Given the description of an element on the screen output the (x, y) to click on. 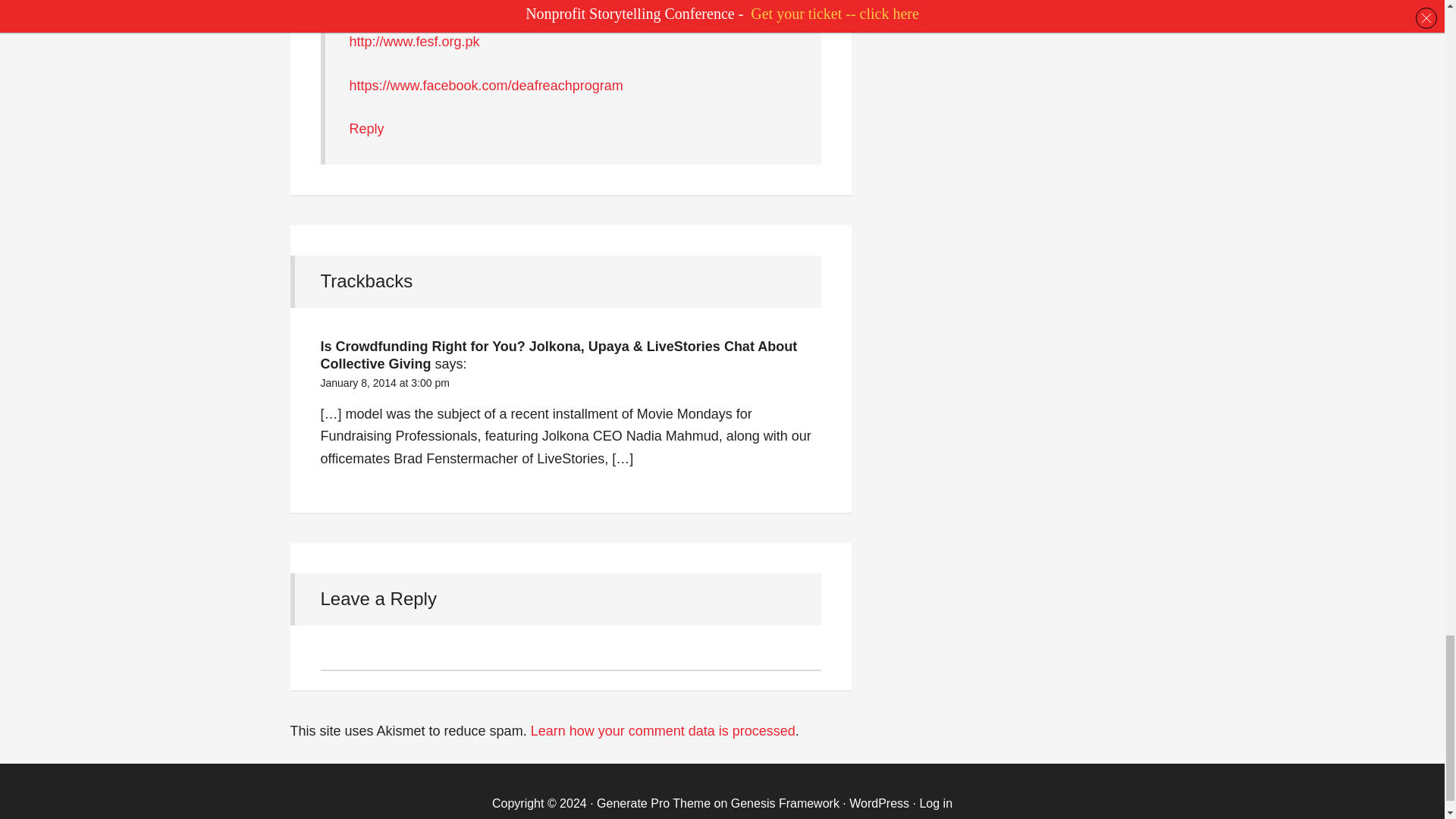
Reply (366, 128)
Learn how your comment data is processed (662, 730)
January 8, 2014 at 3:00 pm (384, 381)
